Given the description of an element on the screen output the (x, y) to click on. 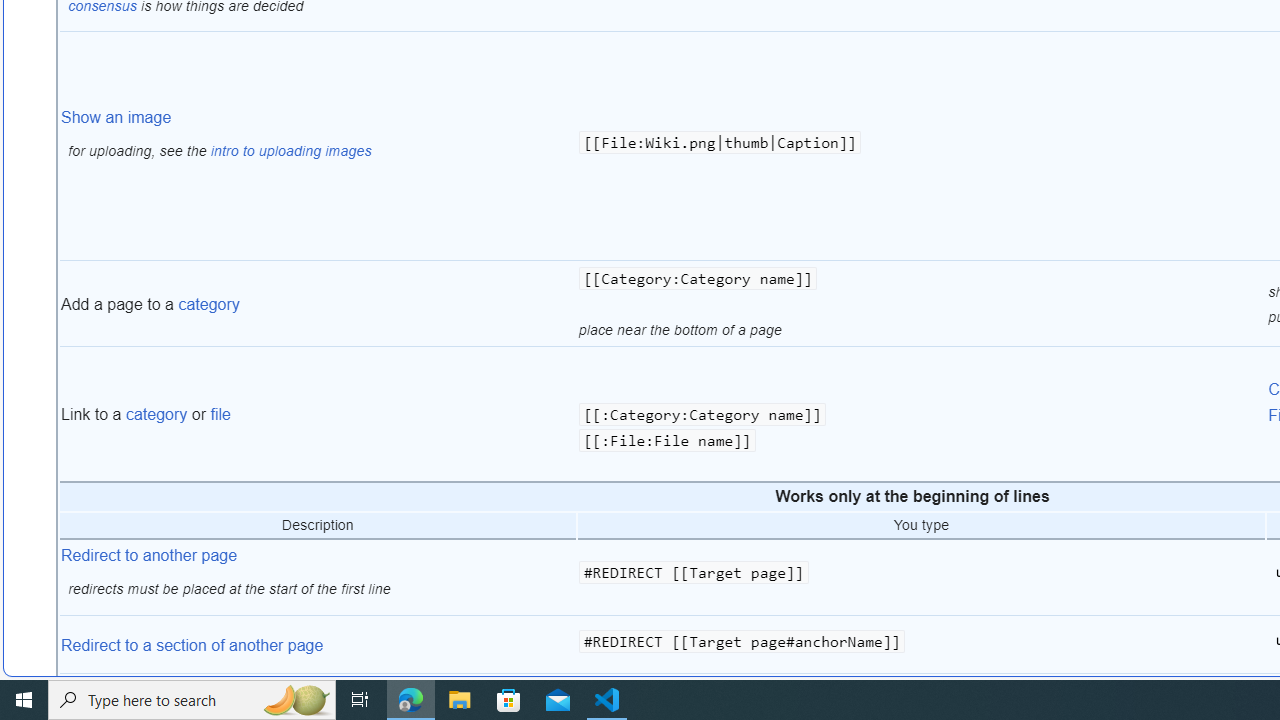
file (219, 415)
Description (318, 525)
Link to a category or file (318, 414)
Redirect to another page (149, 554)
